Given the description of an element on the screen output the (x, y) to click on. 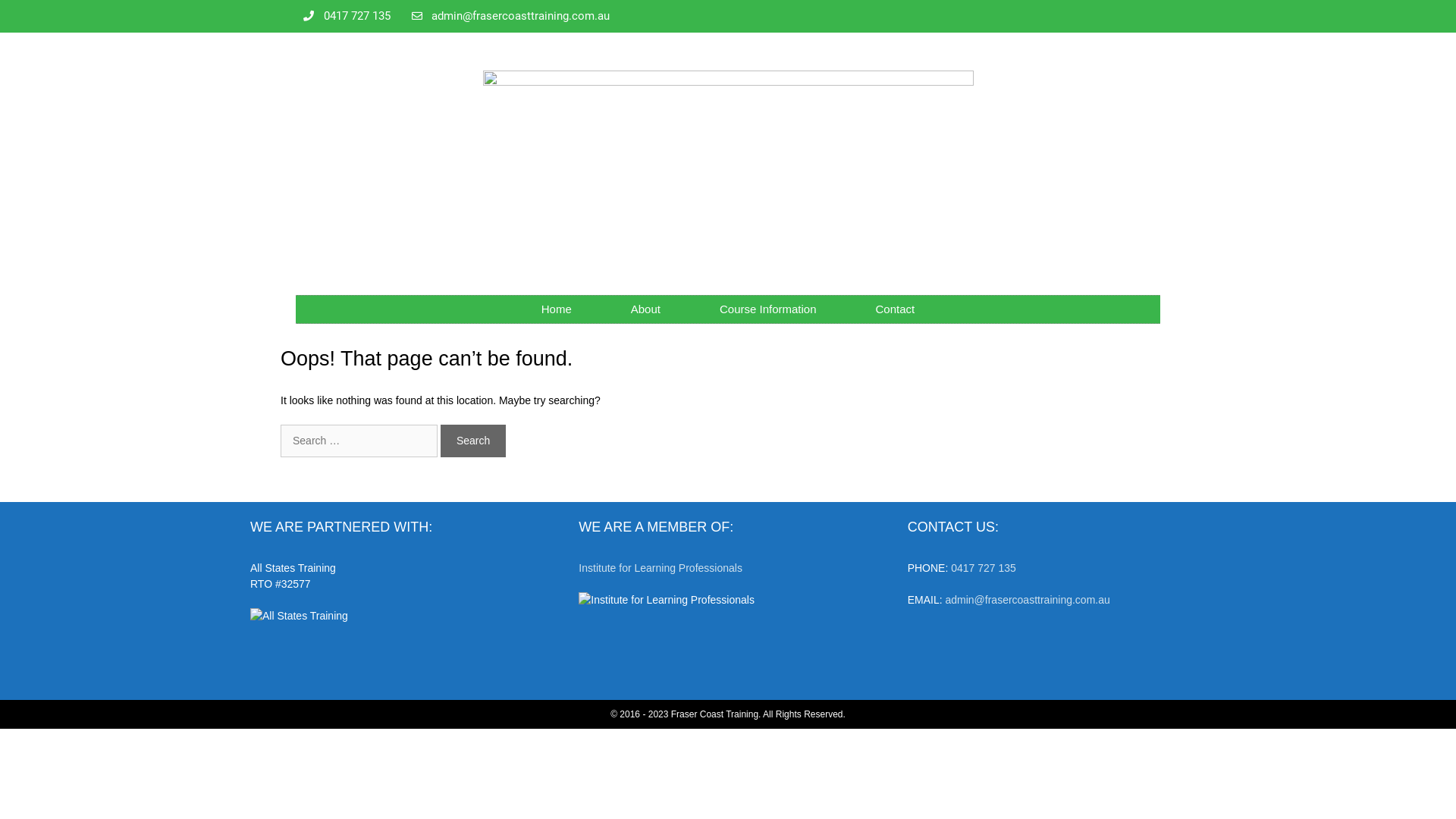
Home Element type: text (556, 309)
About Element type: text (645, 309)
admin@frasercoasttraining.com.au Element type: text (1026, 599)
Search Element type: text (472, 440)
Contact Element type: text (895, 309)
Search for: Element type: hover (358, 440)
admin@frasercoasttraining.com.au Element type: text (510, 16)
0417 727 135 Element type: text (346, 16)
Institute for Learning Professionals Element type: text (660, 567)
Course Information Element type: text (768, 309)
0417 727 135 Element type: text (983, 567)
